Given the description of an element on the screen output the (x, y) to click on. 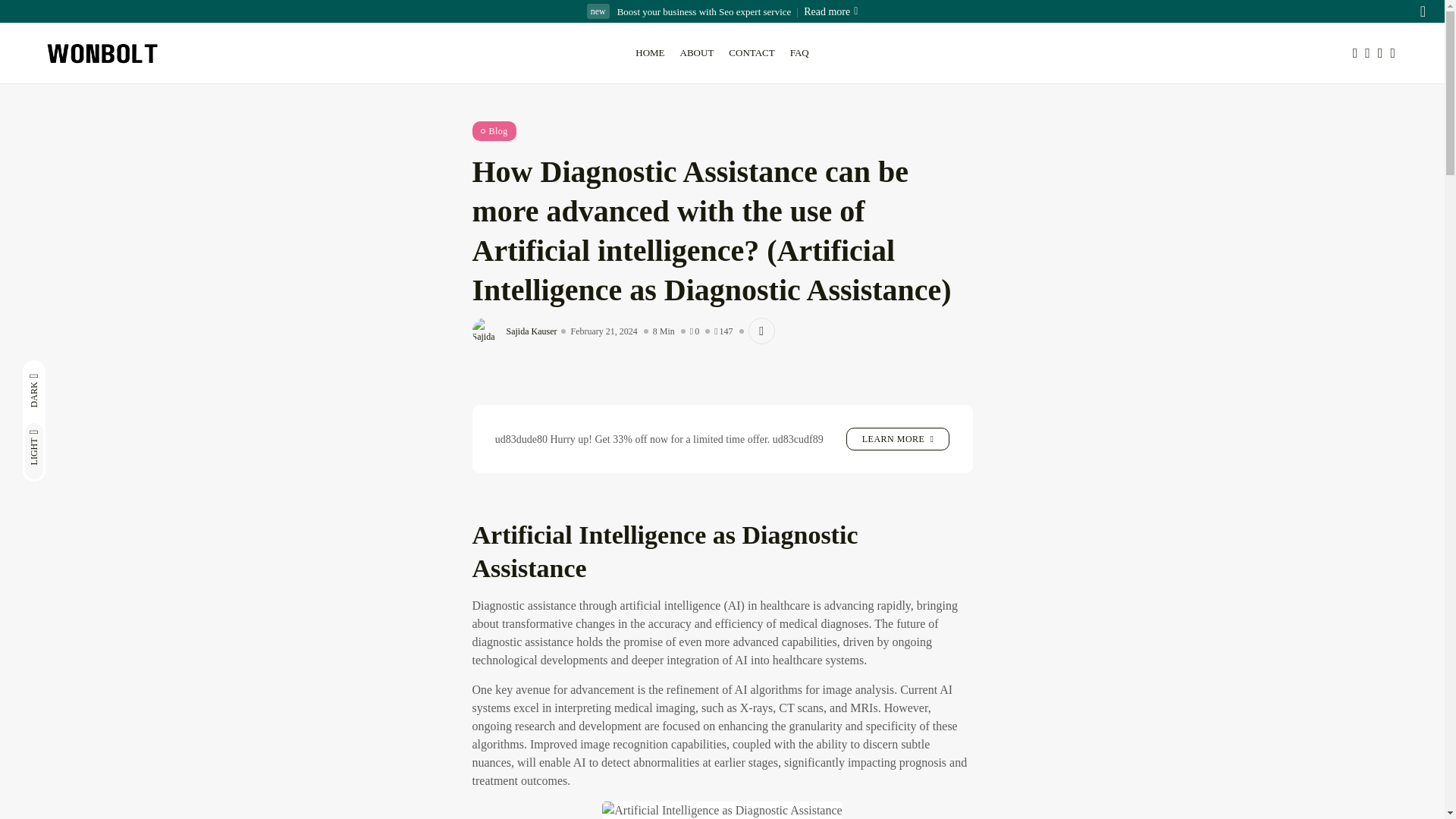
on (83, 371)
CONTACT (750, 52)
FAQ (799, 52)
Read more (823, 10)
HOME (649, 52)
ABOUT (697, 52)
